Given the description of an element on the screen output the (x, y) to click on. 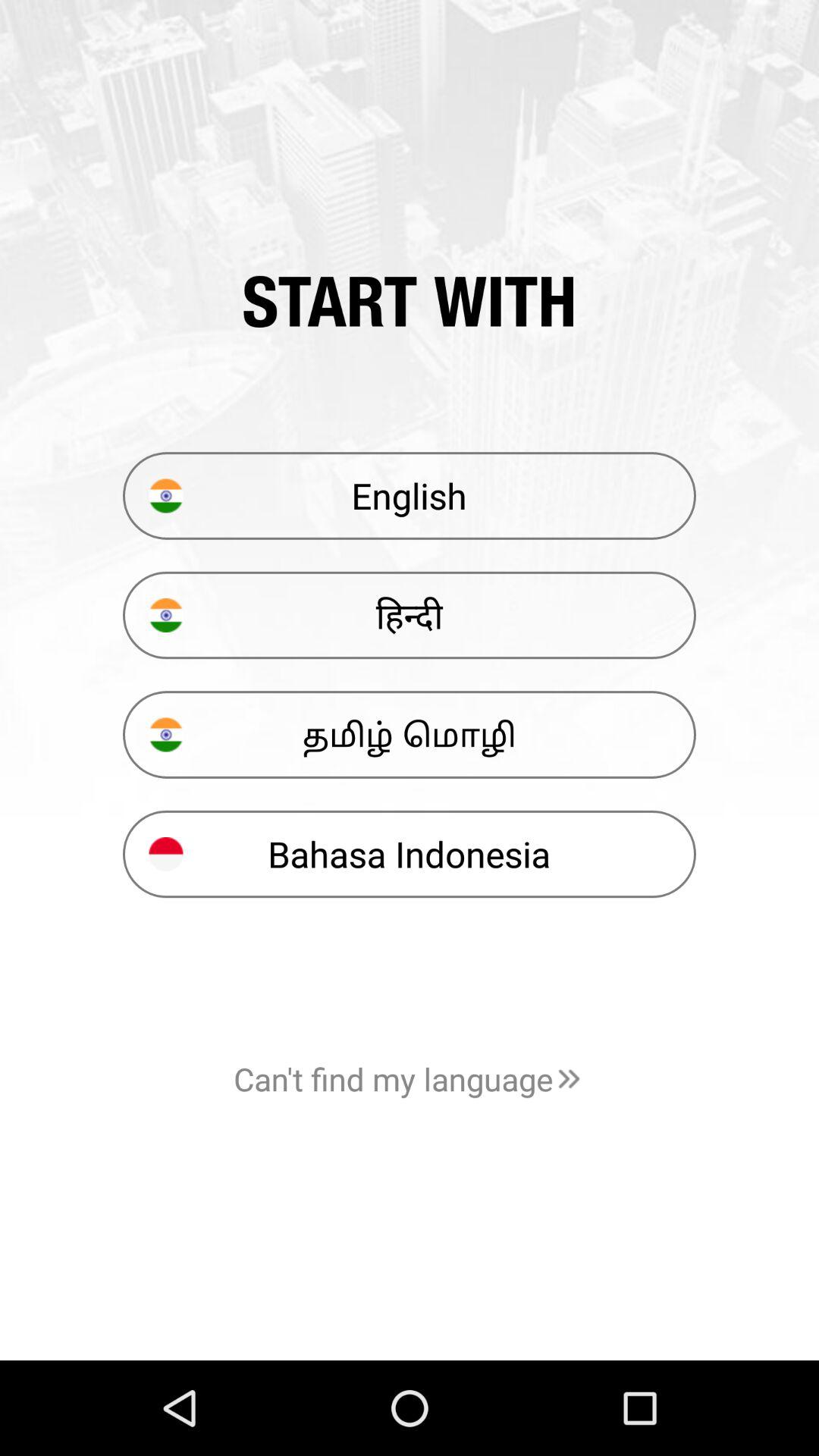
flip until the can t find (409, 1078)
